Given the description of an element on the screen output the (x, y) to click on. 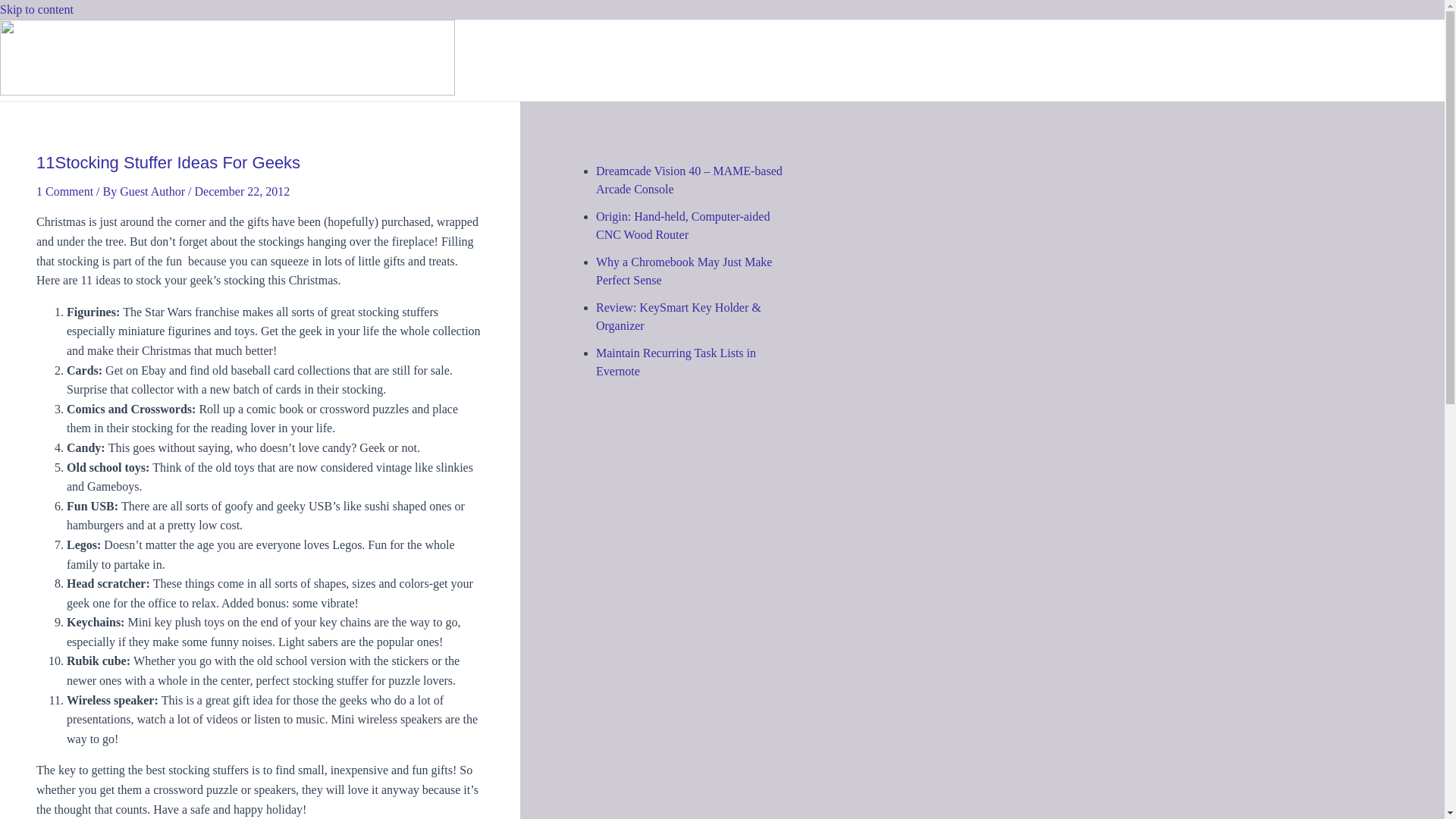
1 Comment (64, 191)
View all posts by Guest Author (153, 191)
Maintain Recurring Task Lists in Evernote (675, 361)
Skip to content (37, 9)
Origin: Hand-held, Computer-aided CNC Wood Router (682, 224)
Skip to content (37, 9)
Why a Chromebook May Just Make Perfect Sense (683, 270)
Guest Author (153, 191)
